Given the description of an element on the screen output the (x, y) to click on. 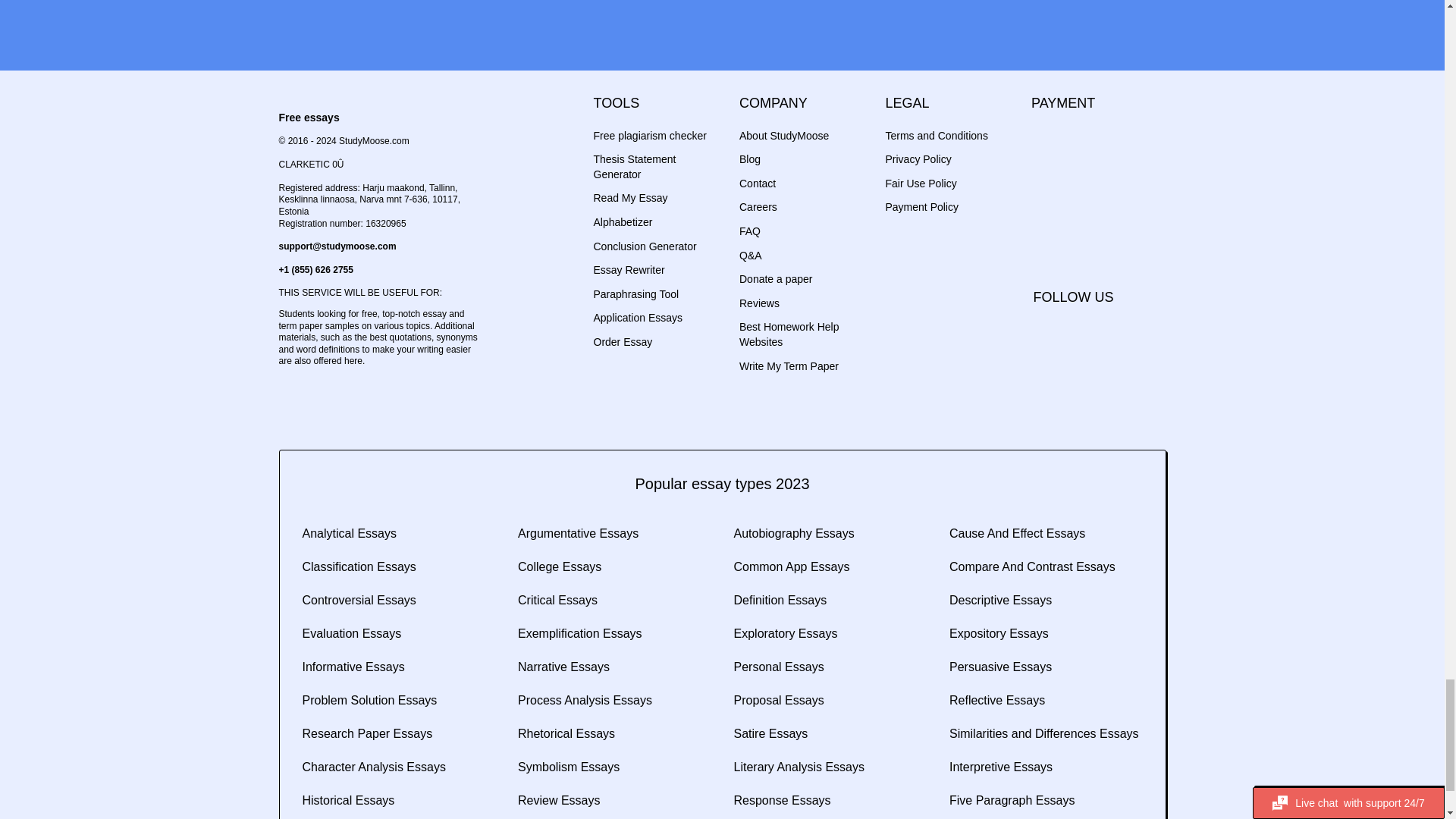
DMCA.com Protection Status (1057, 233)
